Given the description of an element on the screen output the (x, y) to click on. 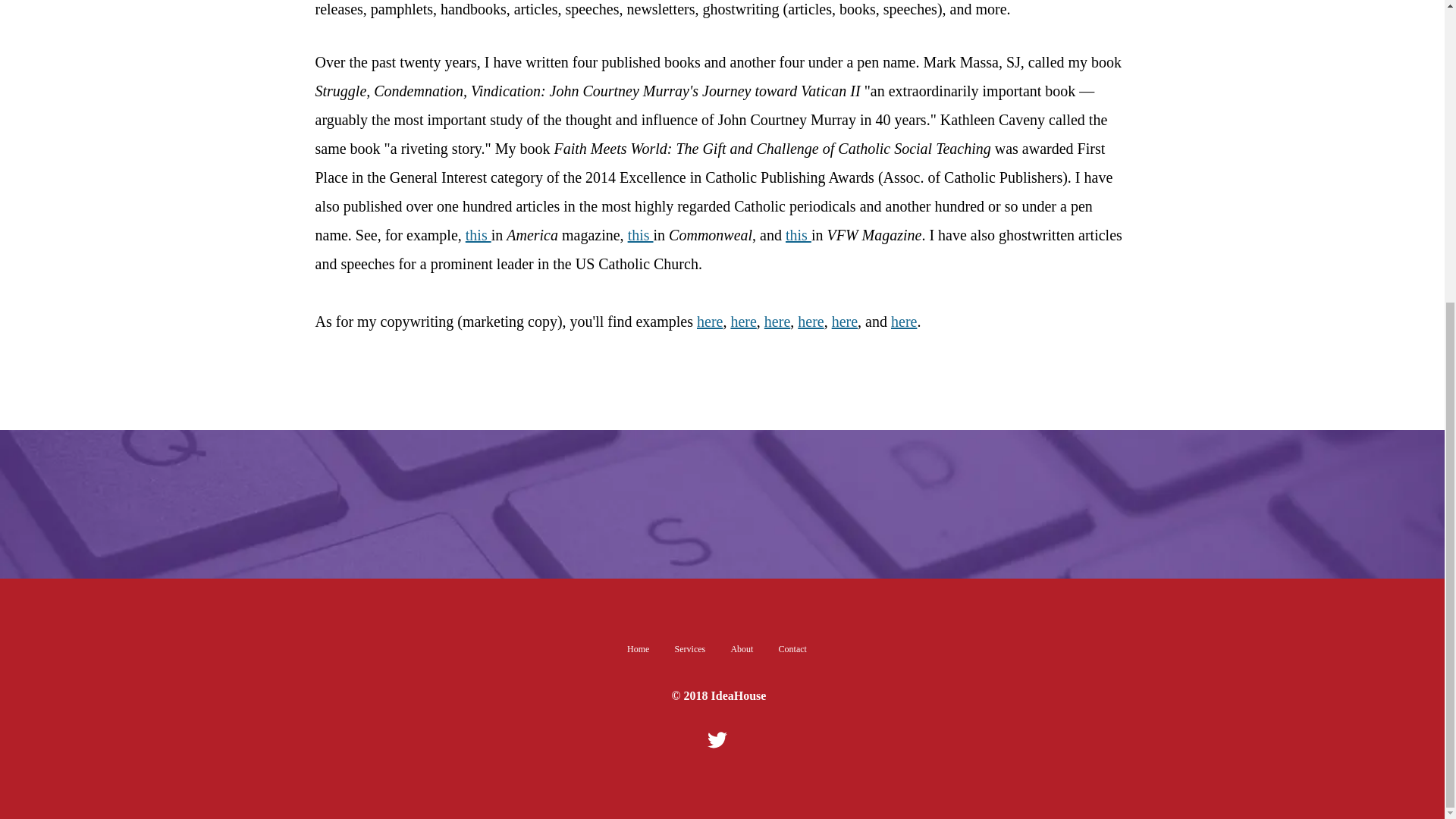
here (709, 321)
here (844, 321)
here (810, 321)
Contact (792, 649)
here (777, 321)
here (742, 321)
Home (638, 649)
this (478, 234)
this (640, 234)
About (741, 649)
